Given the description of an element on the screen output the (x, y) to click on. 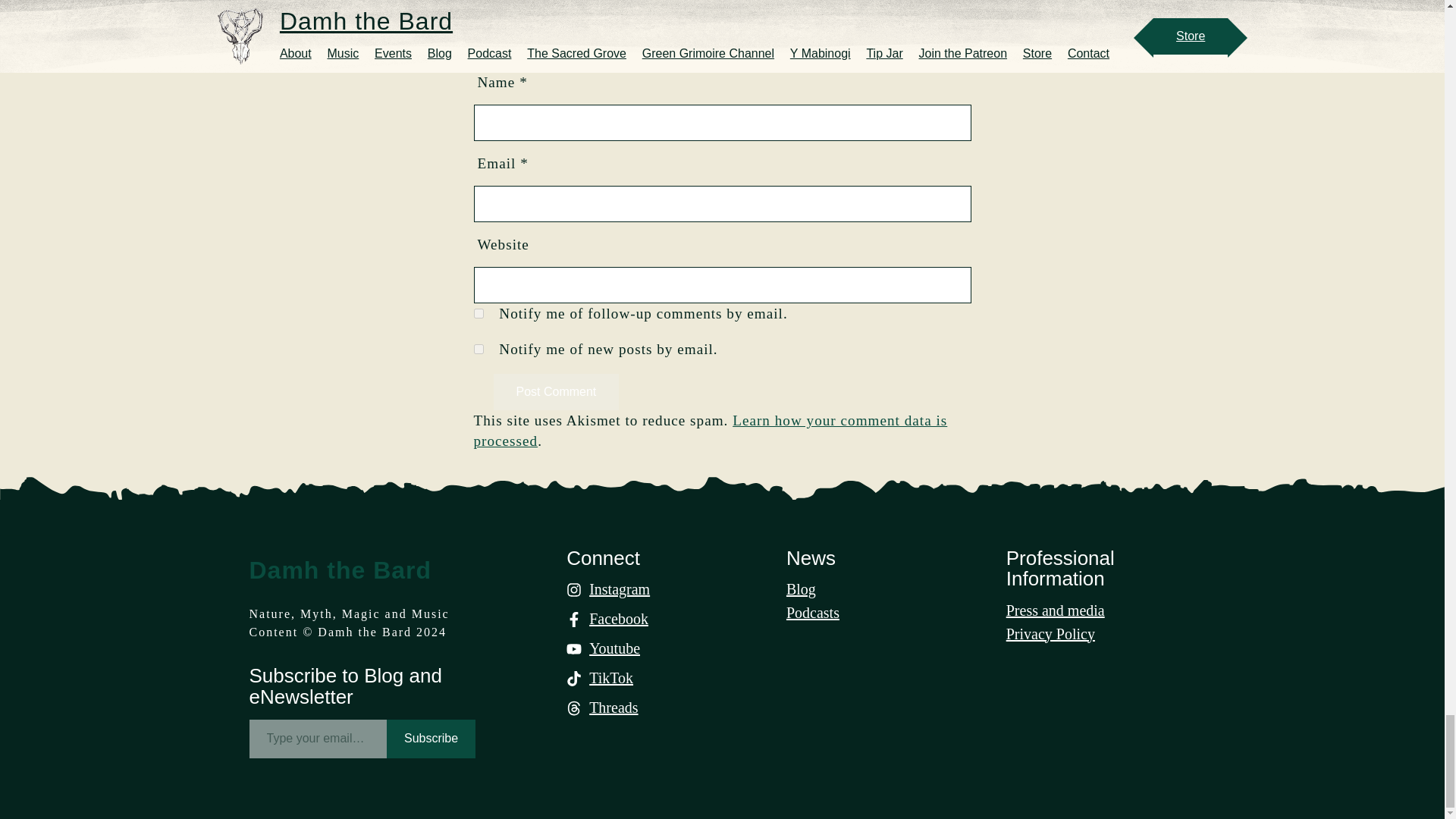
Post Comment (555, 391)
subscribe (478, 313)
Please fill in this field. (317, 738)
subscribe (478, 348)
